Given the description of an element on the screen output the (x, y) to click on. 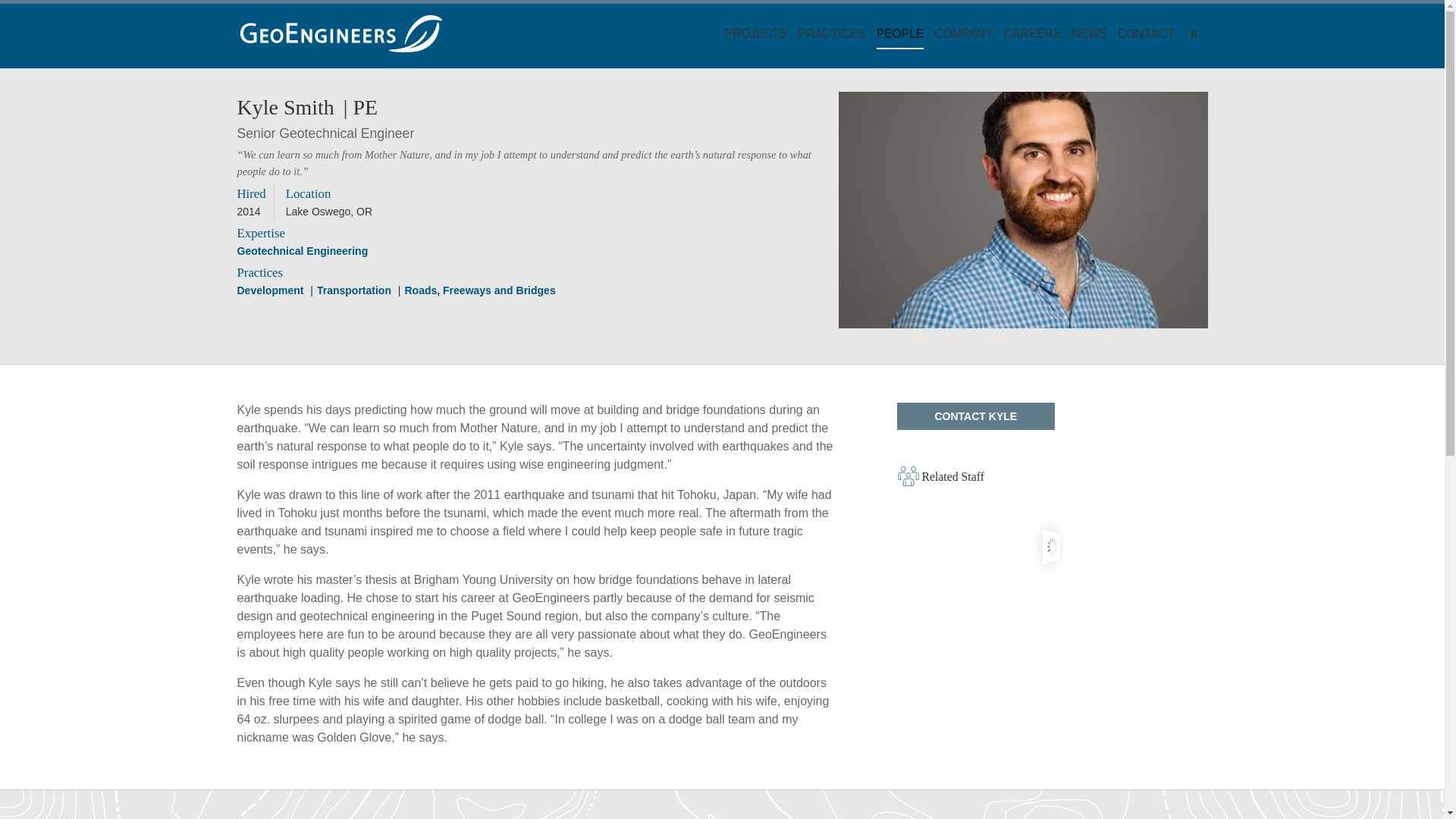
PROJECTS (757, 33)
